Given the description of an element on the screen output the (x, y) to click on. 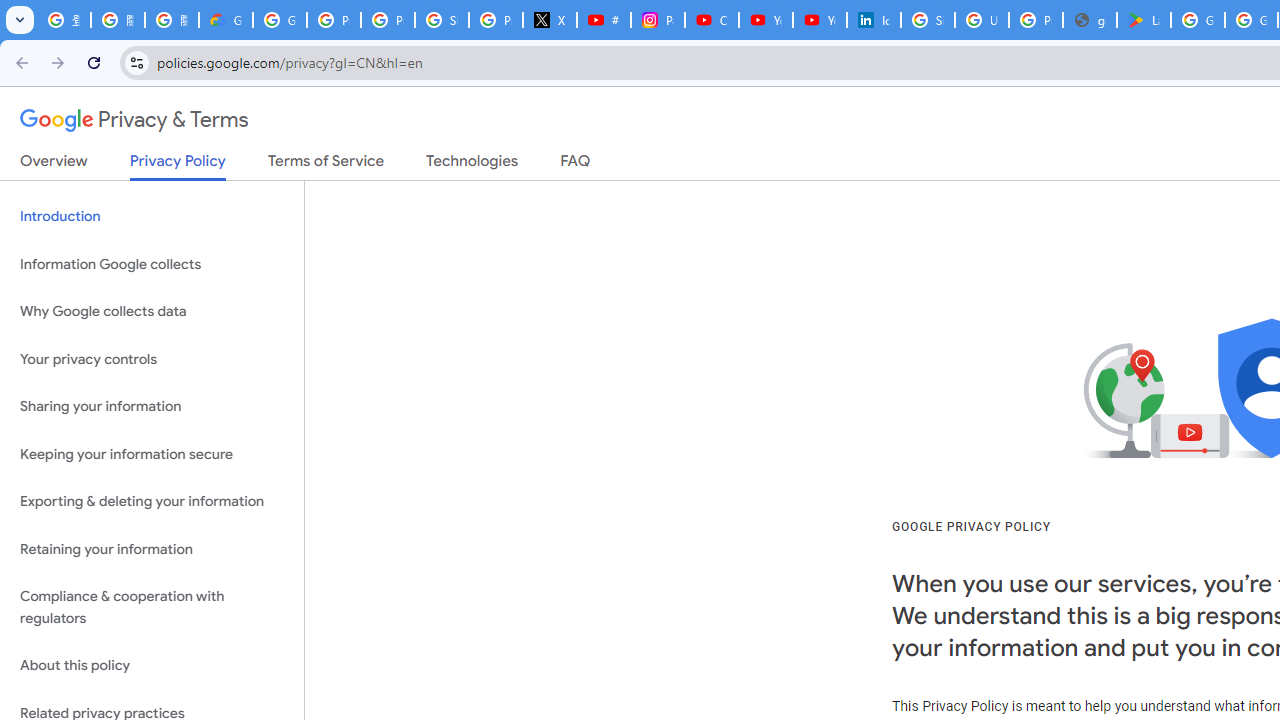
Overview (54, 165)
YouTube Culture & Trends - YouTube Top 10, 2021 (819, 20)
Google Cloud Privacy Notice (225, 20)
Your privacy controls (152, 358)
Privacy & Terms (134, 120)
Retaining your information (152, 548)
Introduction (152, 216)
